Given the description of an element on the screen output the (x, y) to click on. 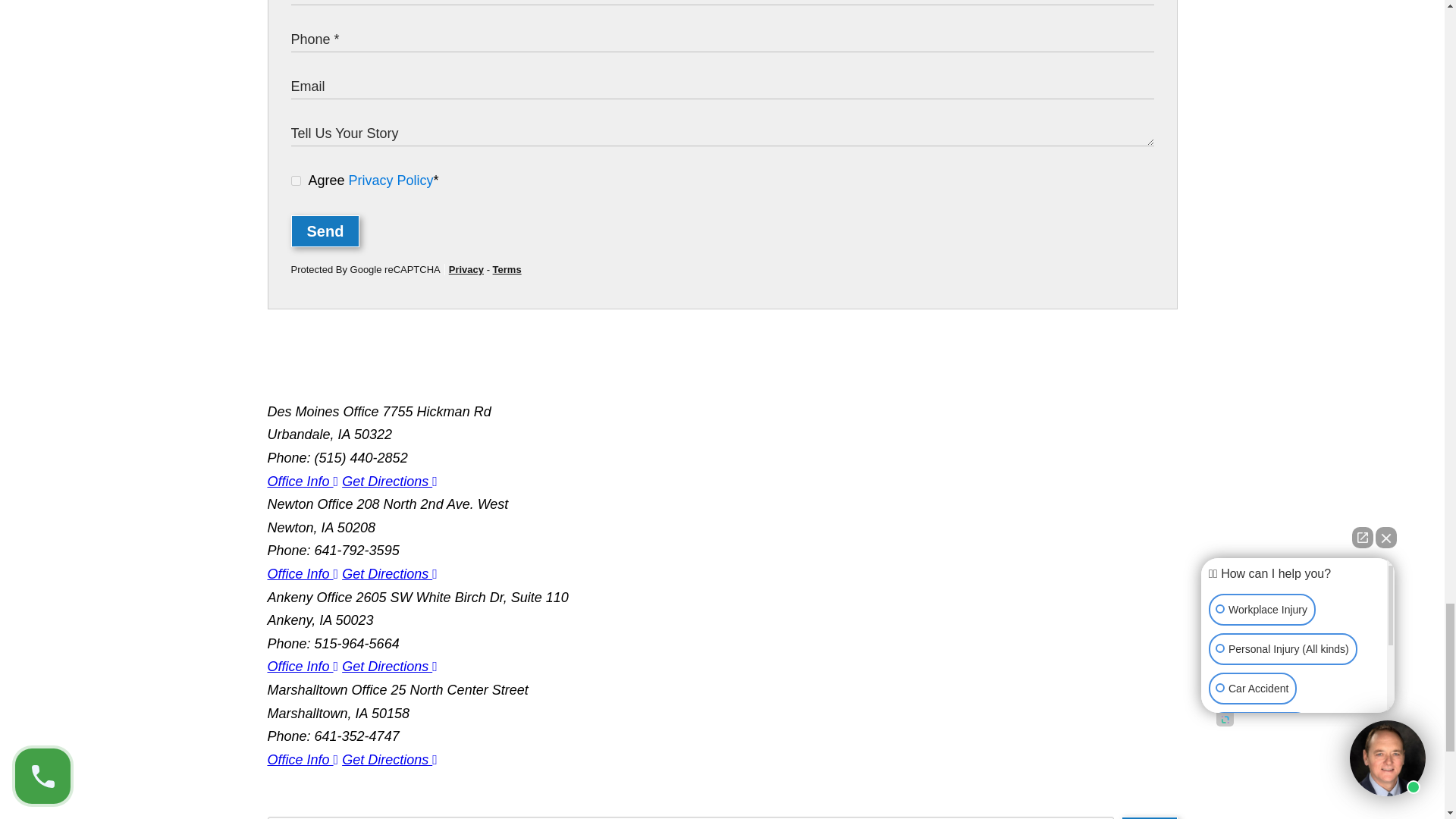
1 (296, 180)
Search (1148, 817)
